Given the description of an element on the screen output the (x, y) to click on. 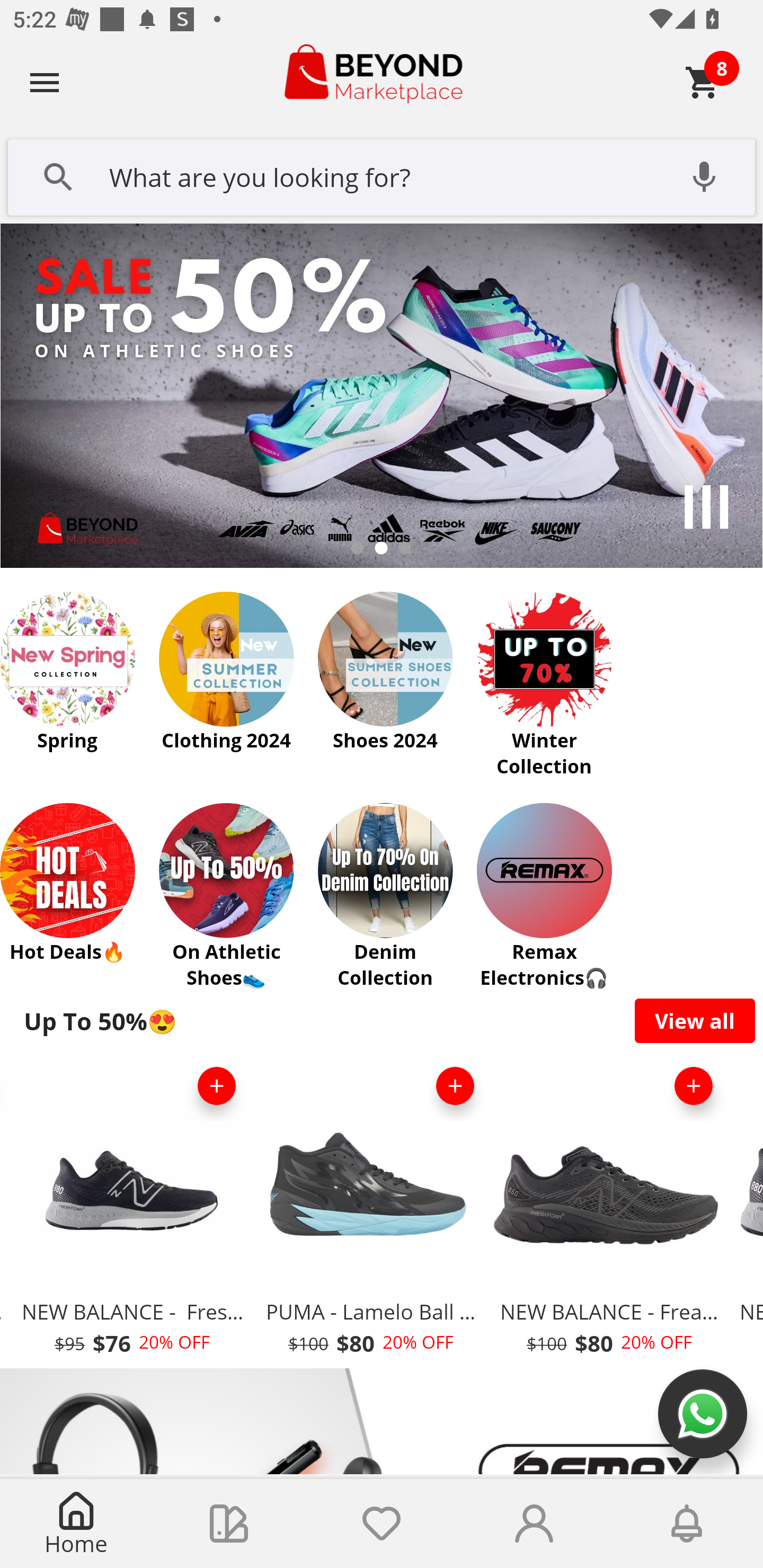
Navigate up (44, 82)
What are you looking for? (381, 175)
View all (694, 1020)
NEW BALANCE -  Fresh Foam X 880 $95 $76 20% OFF (131, 1209)
PUMA - Lamelo Ball MB.02 Phenom $100 $80 20% OFF (370, 1209)
Collections (228, 1523)
Wishlist (381, 1523)
Account (533, 1523)
Notifications (686, 1523)
